Given the description of an element on the screen output the (x, y) to click on. 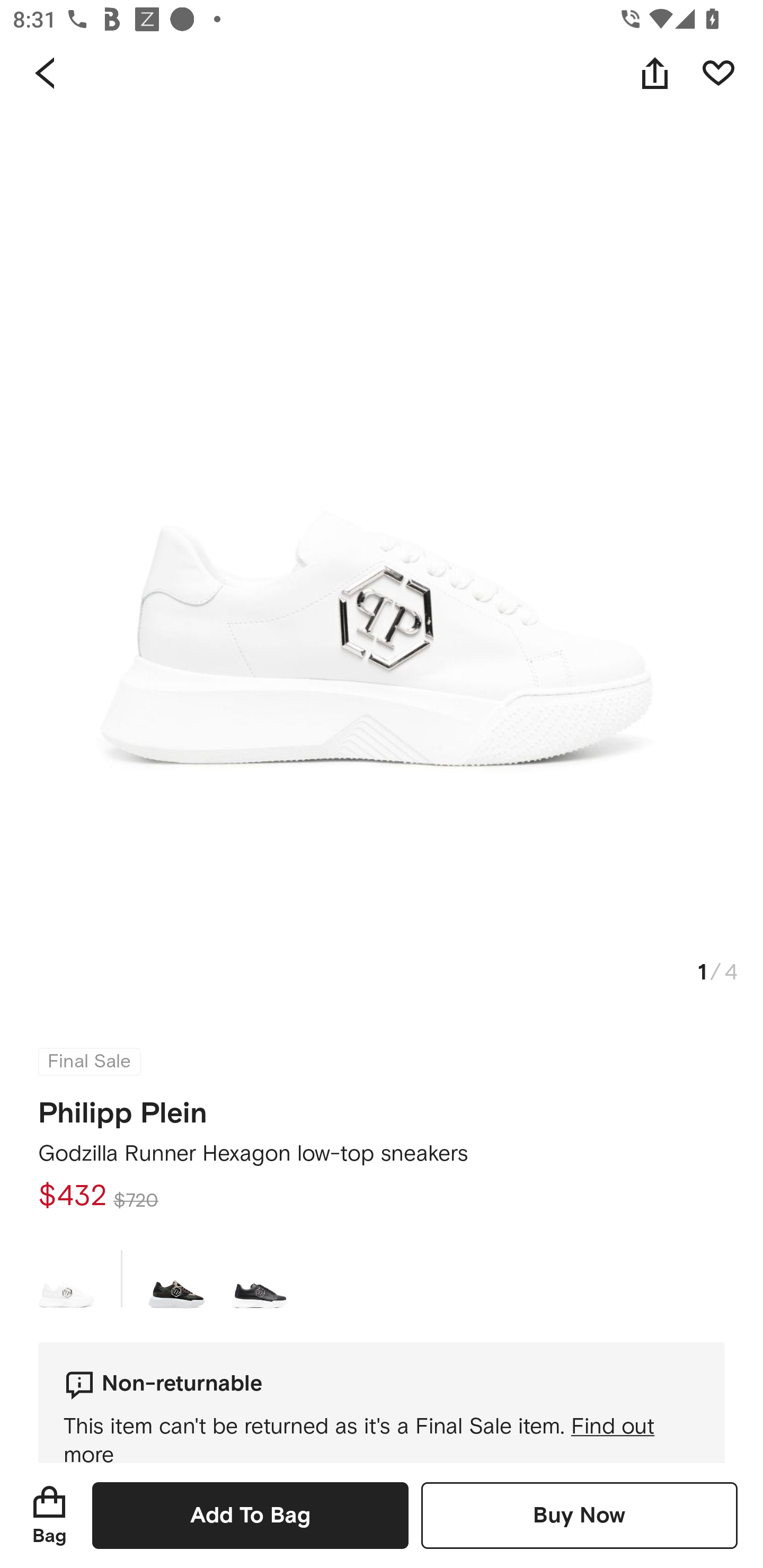
Philipp Plein (122, 1107)
Bag (49, 1515)
Add To Bag (250, 1515)
Buy Now (579, 1515)
